Given the description of an element on the screen output the (x, y) to click on. 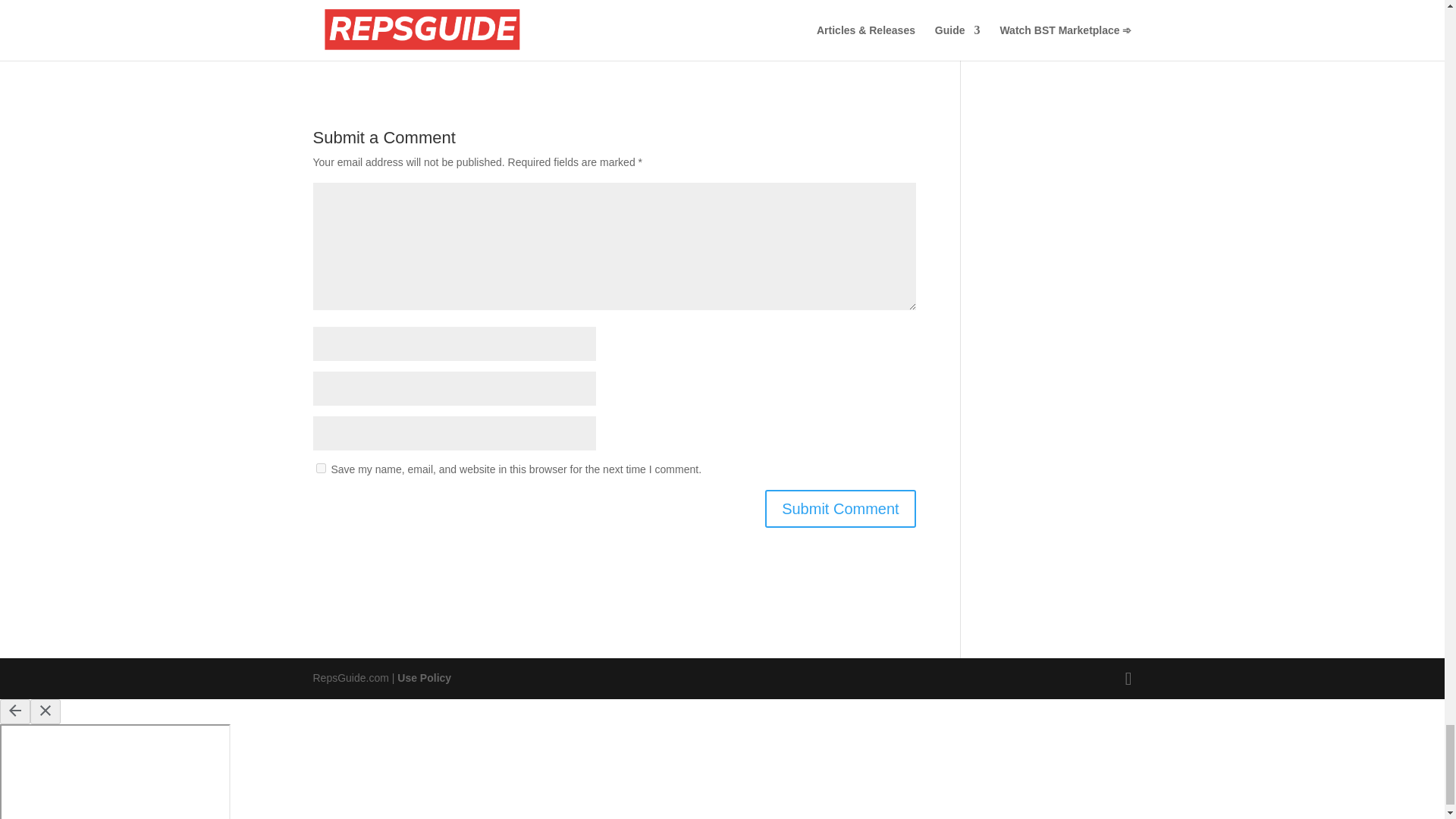
Submit Comment (840, 508)
yes (319, 468)
